Given the description of an element on the screen output the (x, y) to click on. 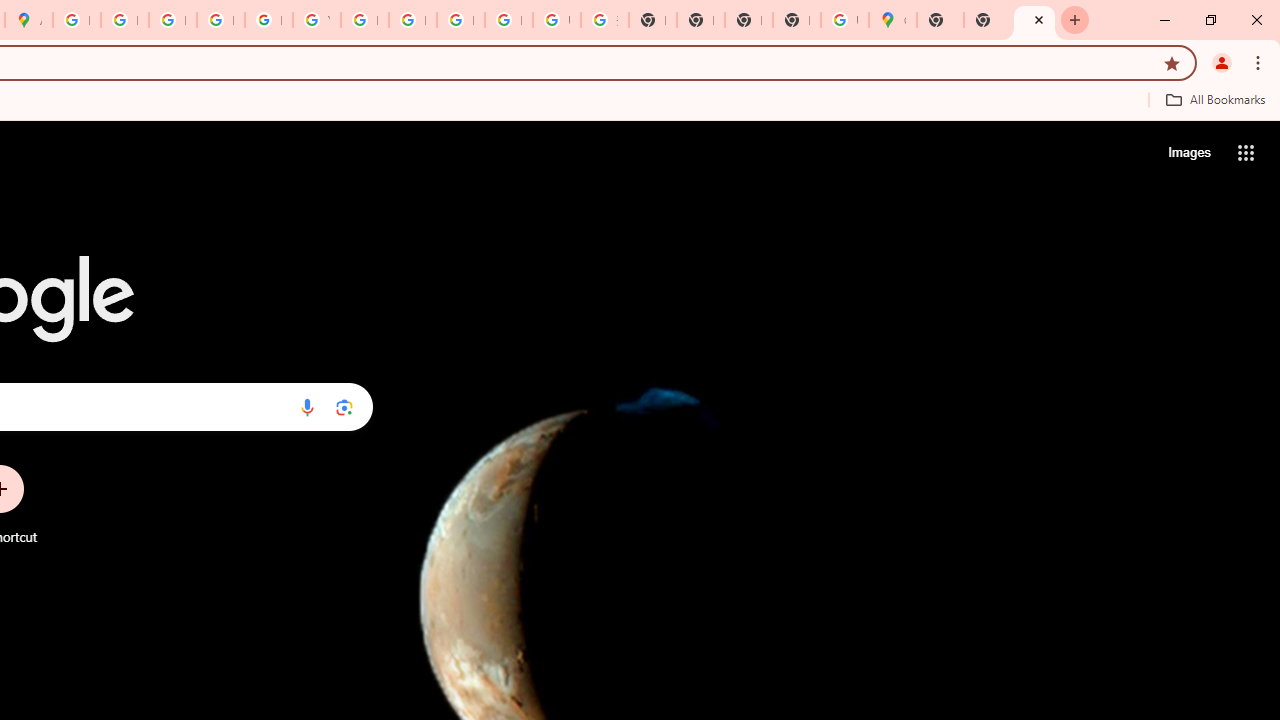
New Tab (796, 20)
New Tab (1034, 20)
Privacy Help Center - Policies Help (124, 20)
Policy Accountability and Transparency - Transparency Center (76, 20)
